Given the description of an element on the screen output the (x, y) to click on. 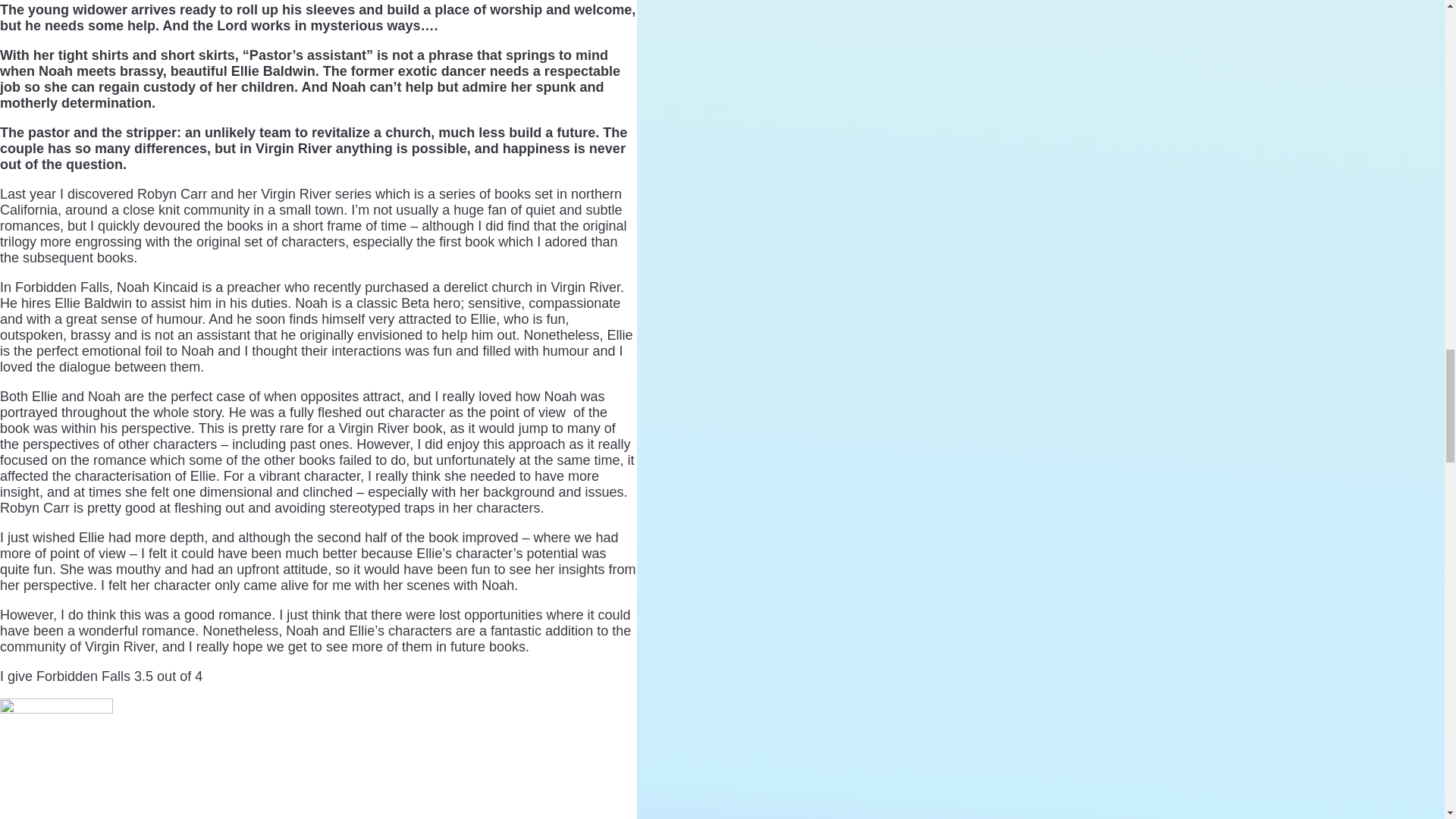
angelspeak (56, 758)
